Given the description of an element on the screen output the (x, y) to click on. 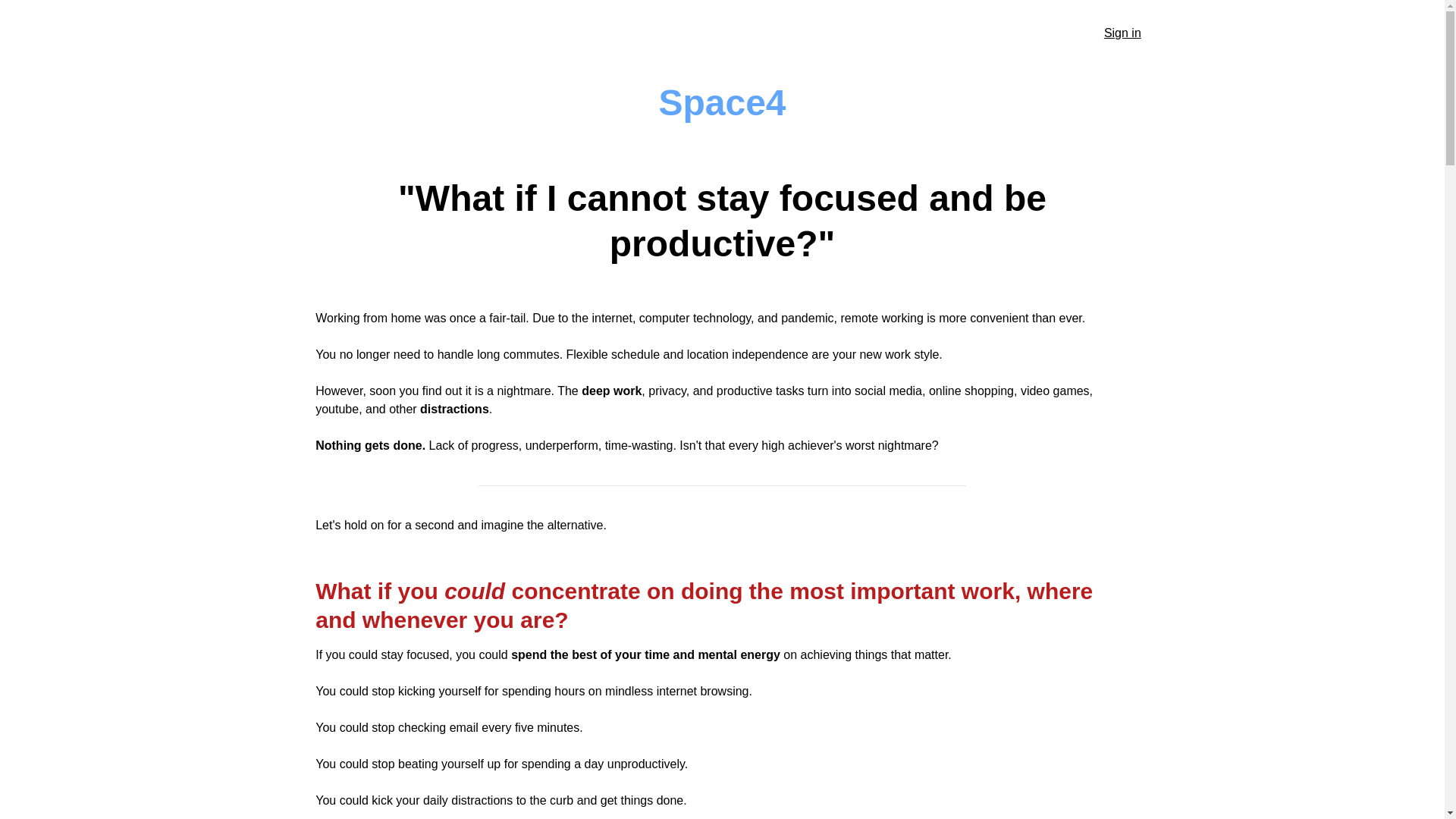
Sign in Element type: text (1122, 33)
